Given the description of an element on the screen output the (x, y) to click on. 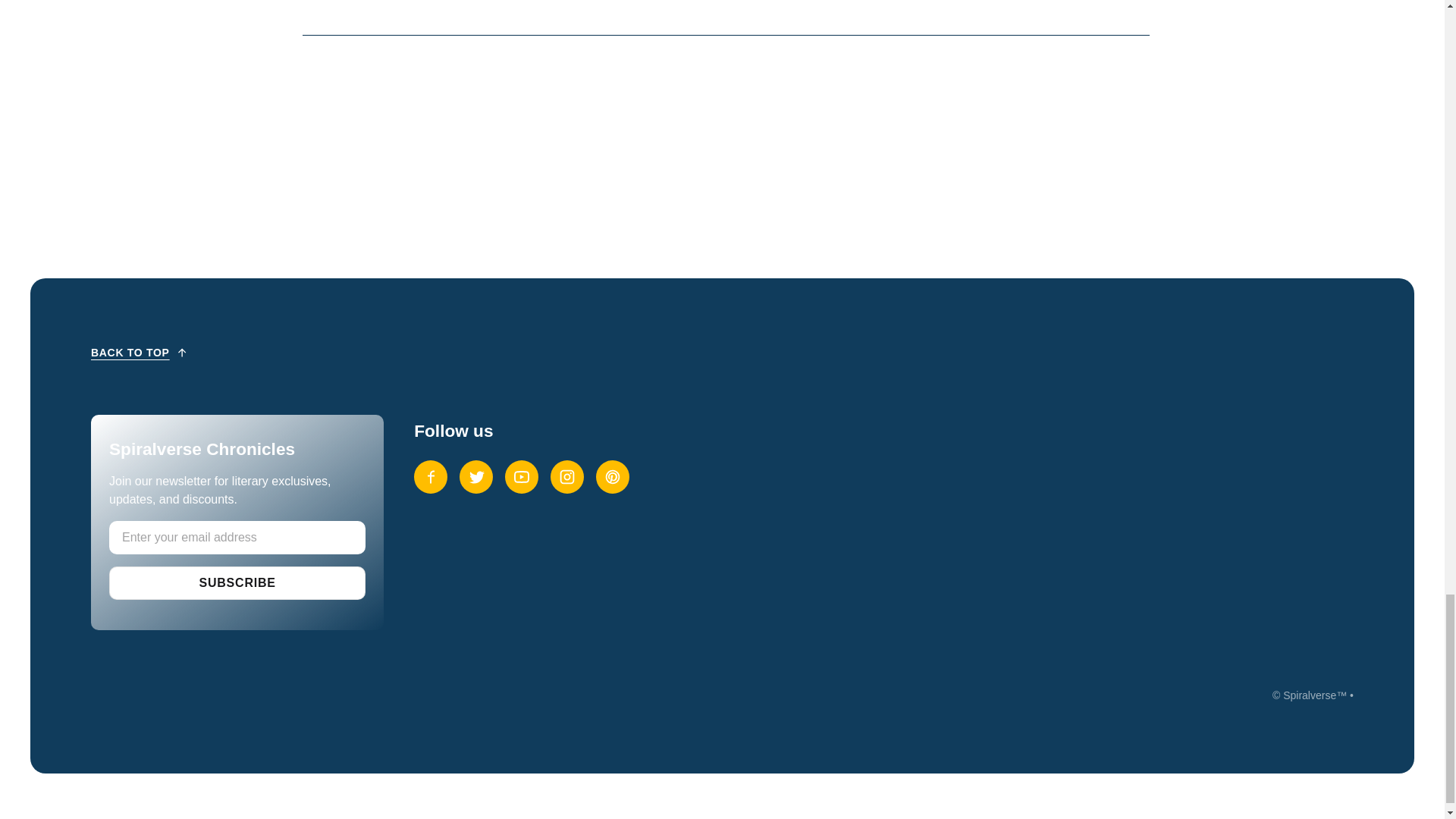
Twitter (476, 476)
Instagram (566, 476)
Pinterest (611, 476)
Youtube (521, 476)
